Given the description of an element on the screen output the (x, y) to click on. 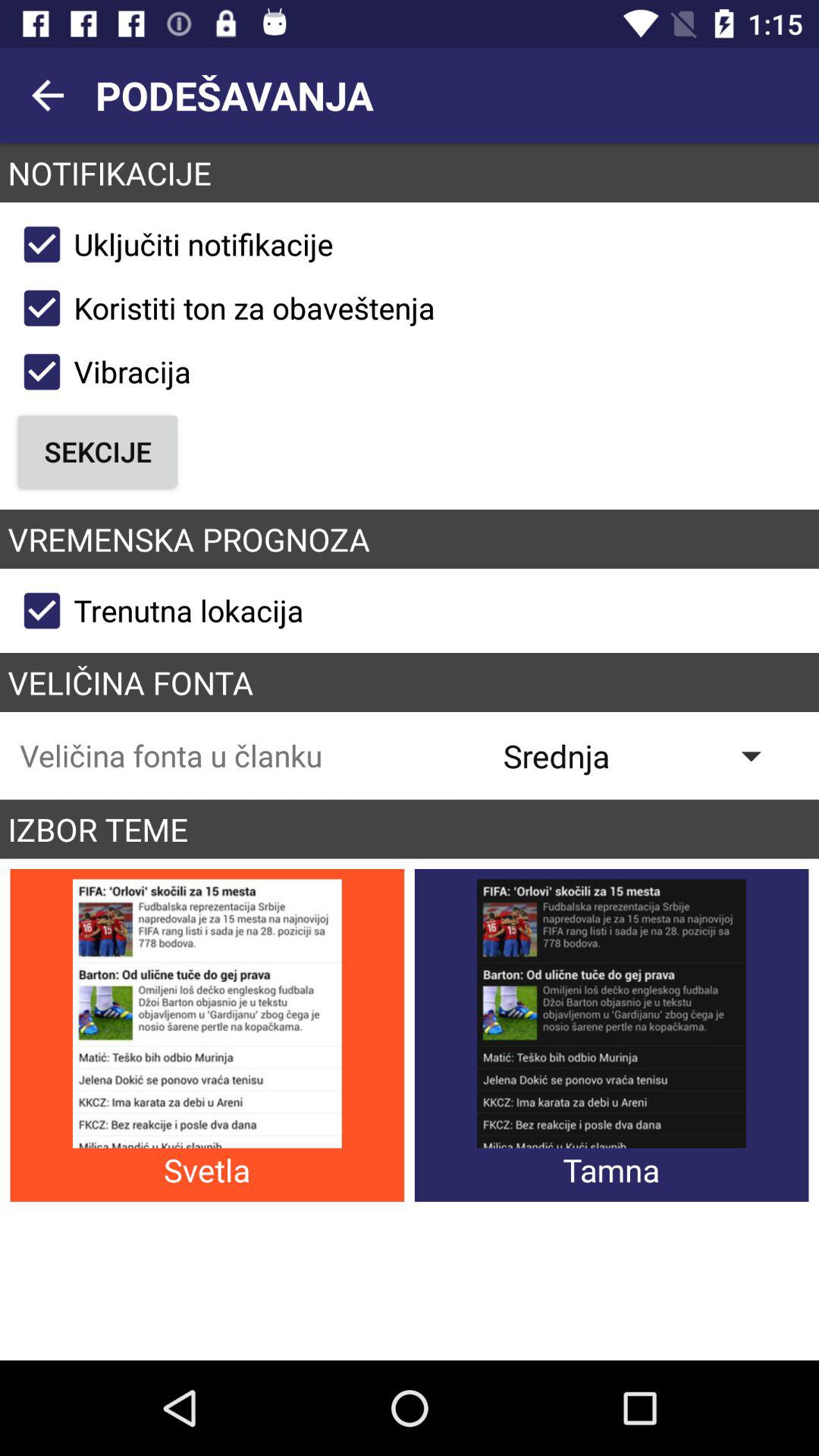
jump to the trenutna lokacija icon (156, 610)
